Given the description of an element on the screen output the (x, y) to click on. 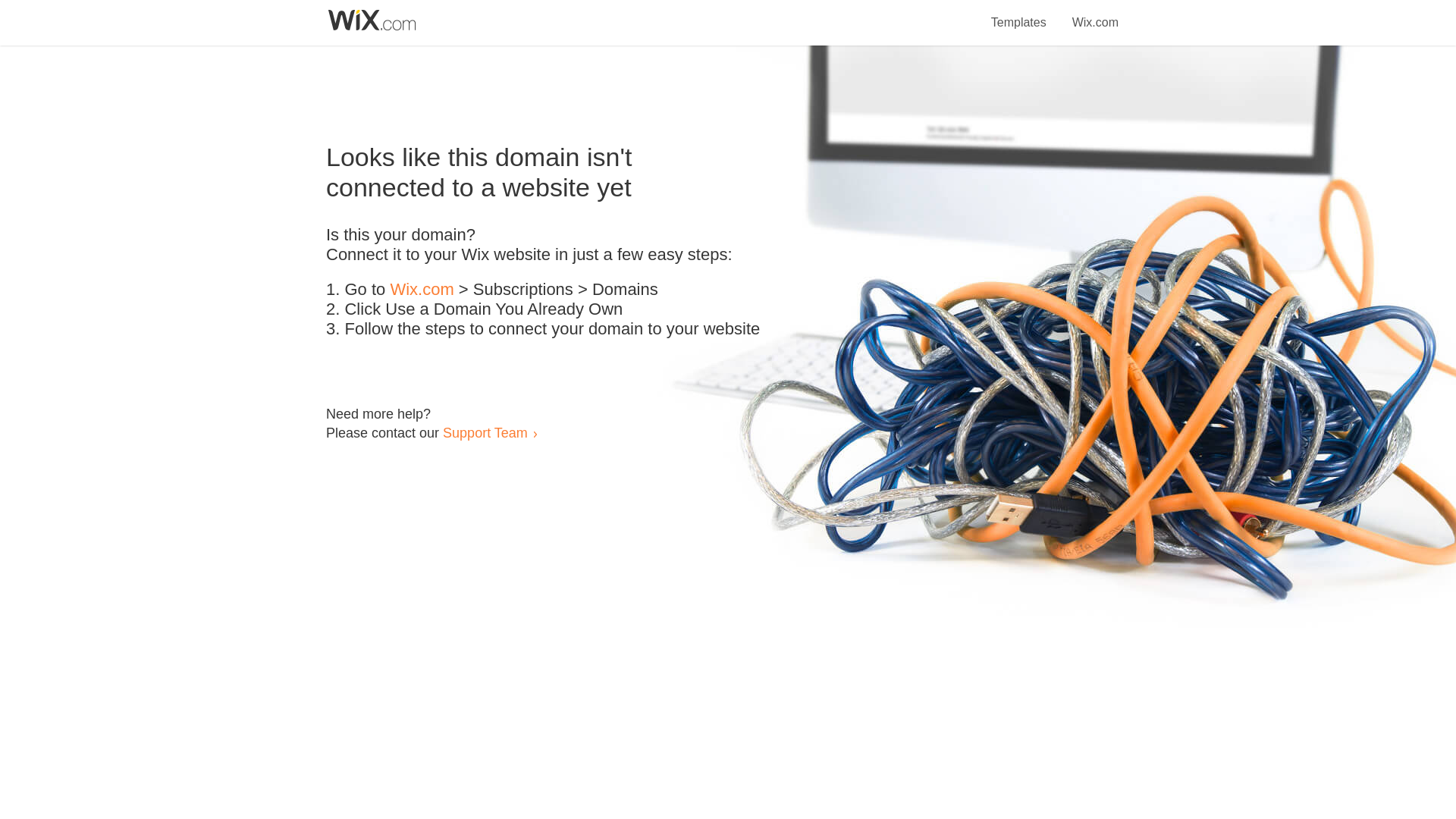
Wix.com (1095, 14)
Support Team (484, 432)
Wix.com (421, 289)
Templates (1018, 14)
